Given the description of an element on the screen output the (x, y) to click on. 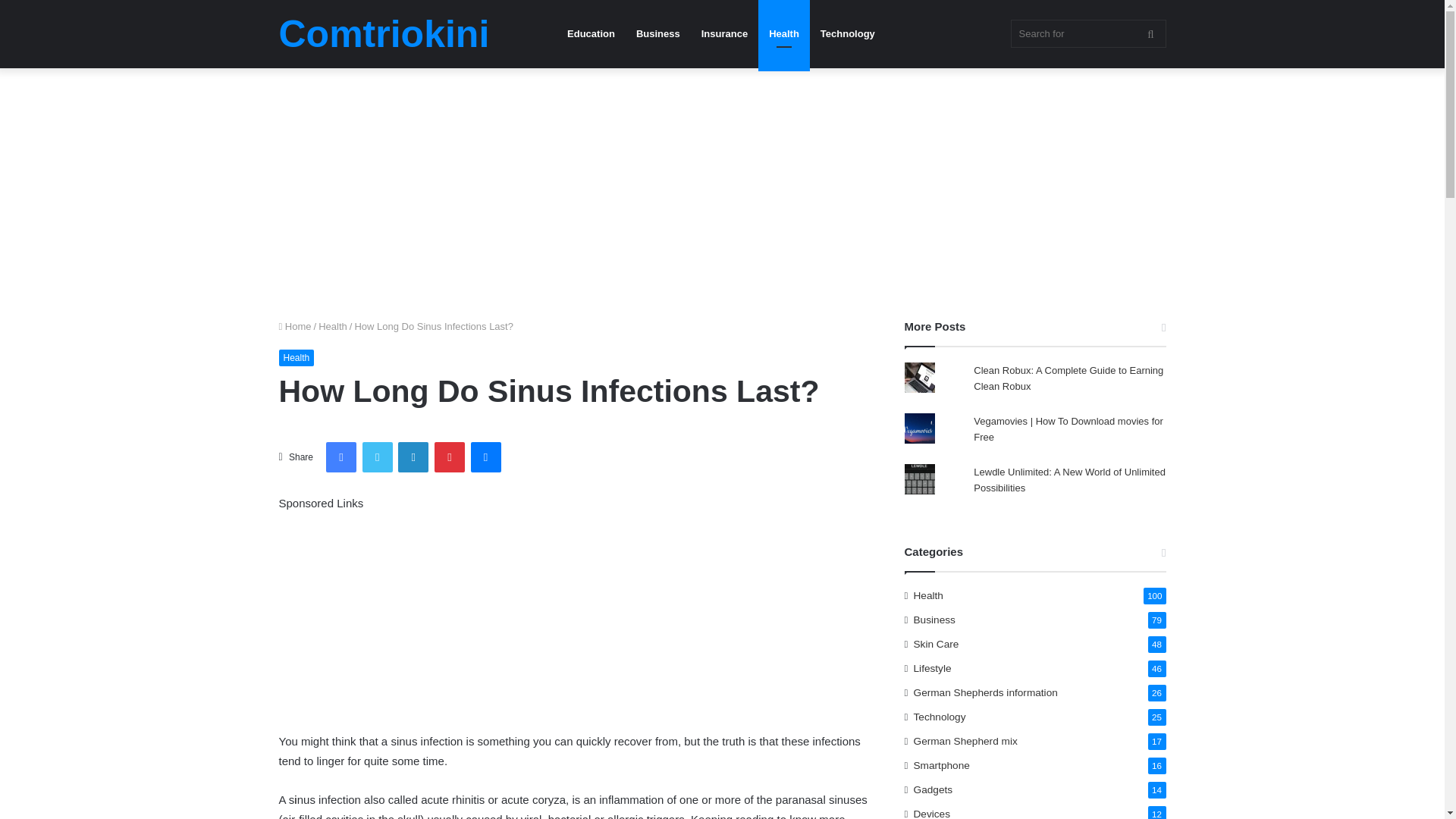
Advertisement (574, 619)
Messenger (485, 457)
LinkedIn (412, 457)
Facebook (341, 457)
Pinterest (448, 457)
Facebook (341, 457)
Comtriokini (384, 34)
Home (295, 326)
Twitter (377, 457)
Comtriokini (384, 34)
